Given the description of an element on the screen output the (x, y) to click on. 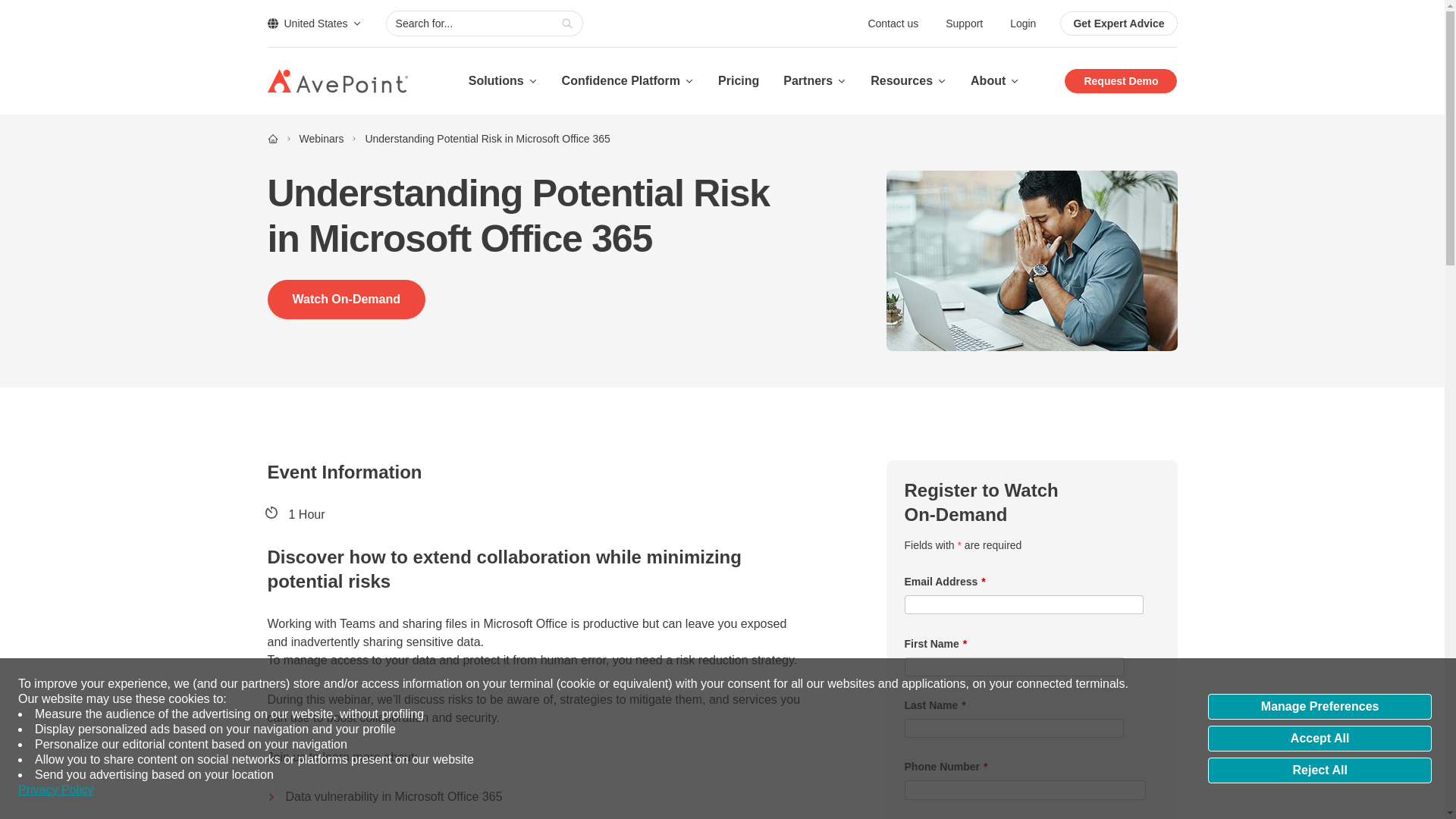
Confidence Platform (628, 80)
Reject All (1319, 769)
United States (313, 23)
Privacy Policy (55, 789)
Contact us (894, 23)
Support (964, 23)
Search (566, 23)
Manage Preferences (1319, 706)
Get Expert Advice (1117, 23)
Accept All (1319, 738)
Login (1022, 23)
Solutions (502, 80)
